Given the description of an element on the screen output the (x, y) to click on. 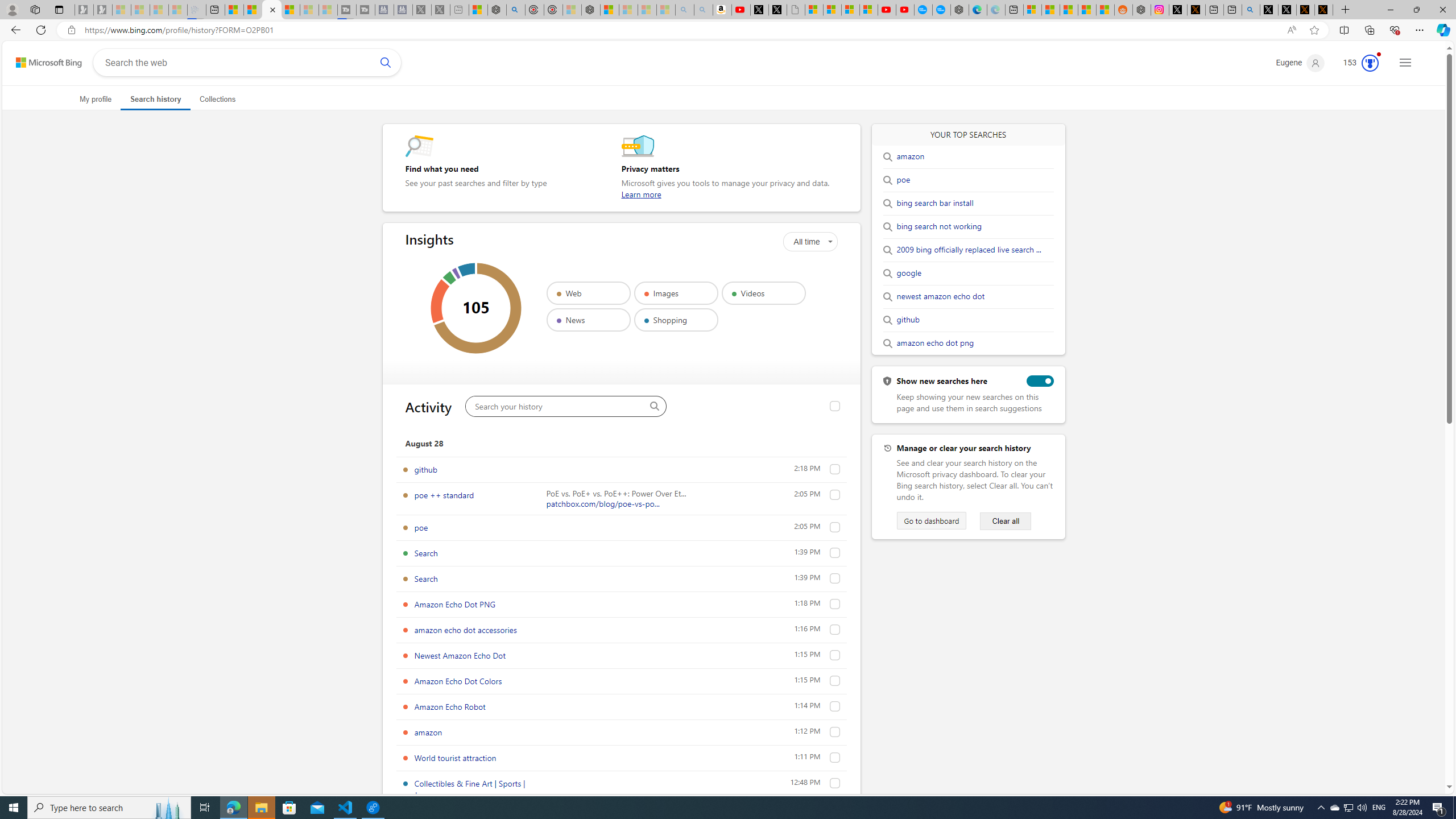
Class: el_arc partner-web (477, 307)
amazon (910, 156)
github (834, 469)
github (908, 320)
github - Search (1251, 9)
Newsletter Sign Up - Sleeping (102, 9)
Amazon Echo Dot PNG (834, 603)
